Given the description of an element on the screen output the (x, y) to click on. 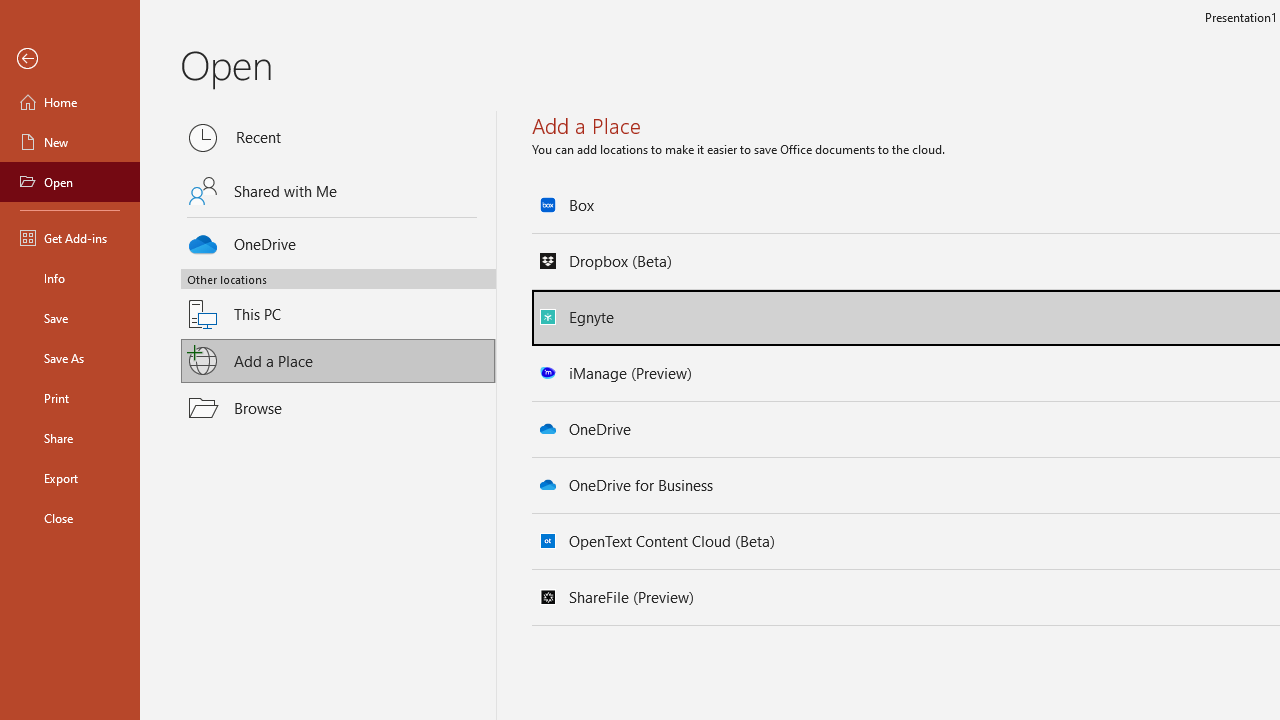
OneDrive (338, 240)
Print (69, 398)
New (69, 141)
Save As (69, 357)
Recent (338, 138)
Add a Place (338, 361)
Shared with Me (338, 191)
Export (69, 477)
Back (69, 59)
Get Add-ins (69, 237)
